Given the description of an element on the screen output the (x, y) to click on. 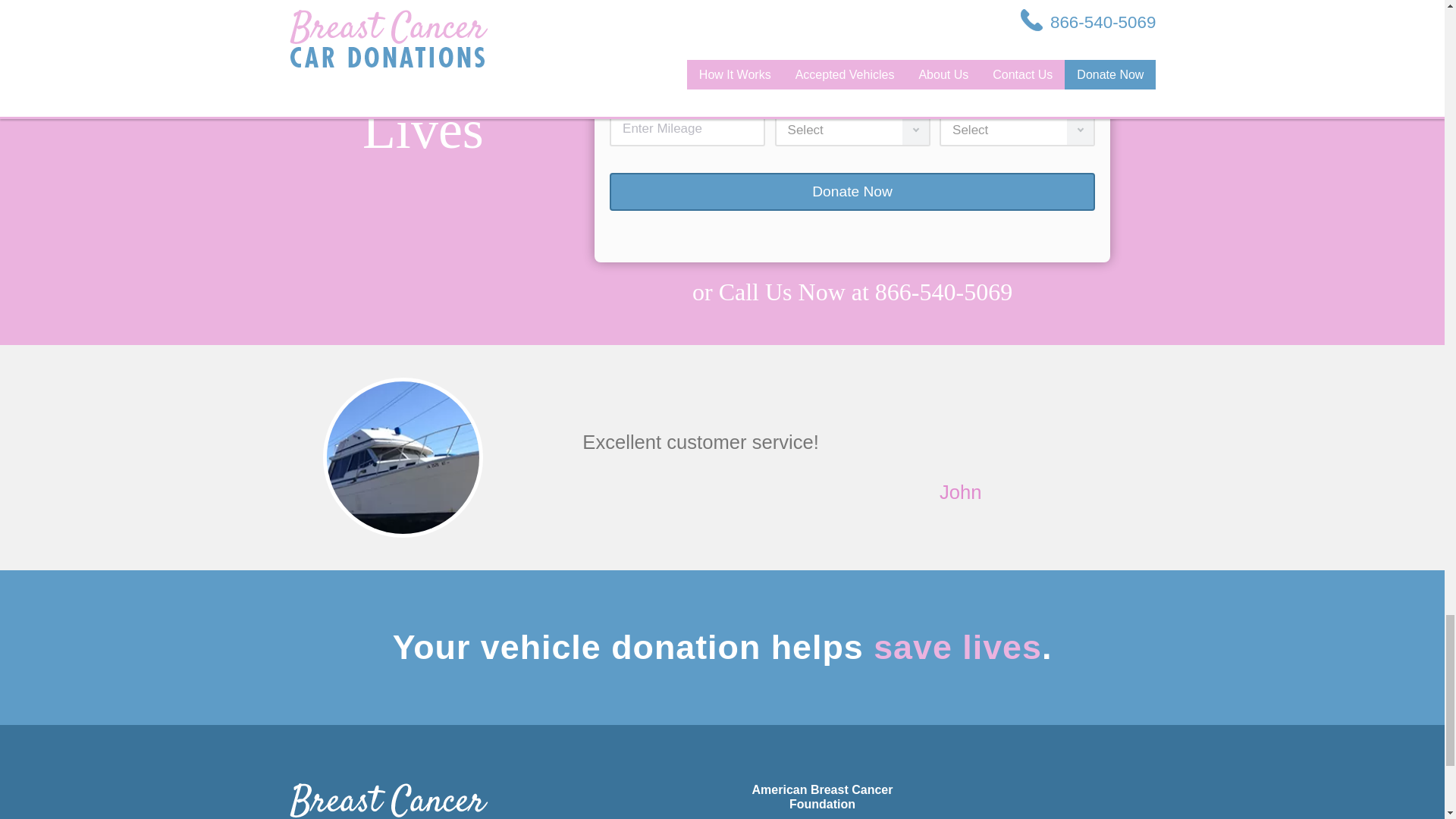
Customer reviews powered by Trustpilot (852, 234)
